Given the description of an element on the screen output the (x, y) to click on. 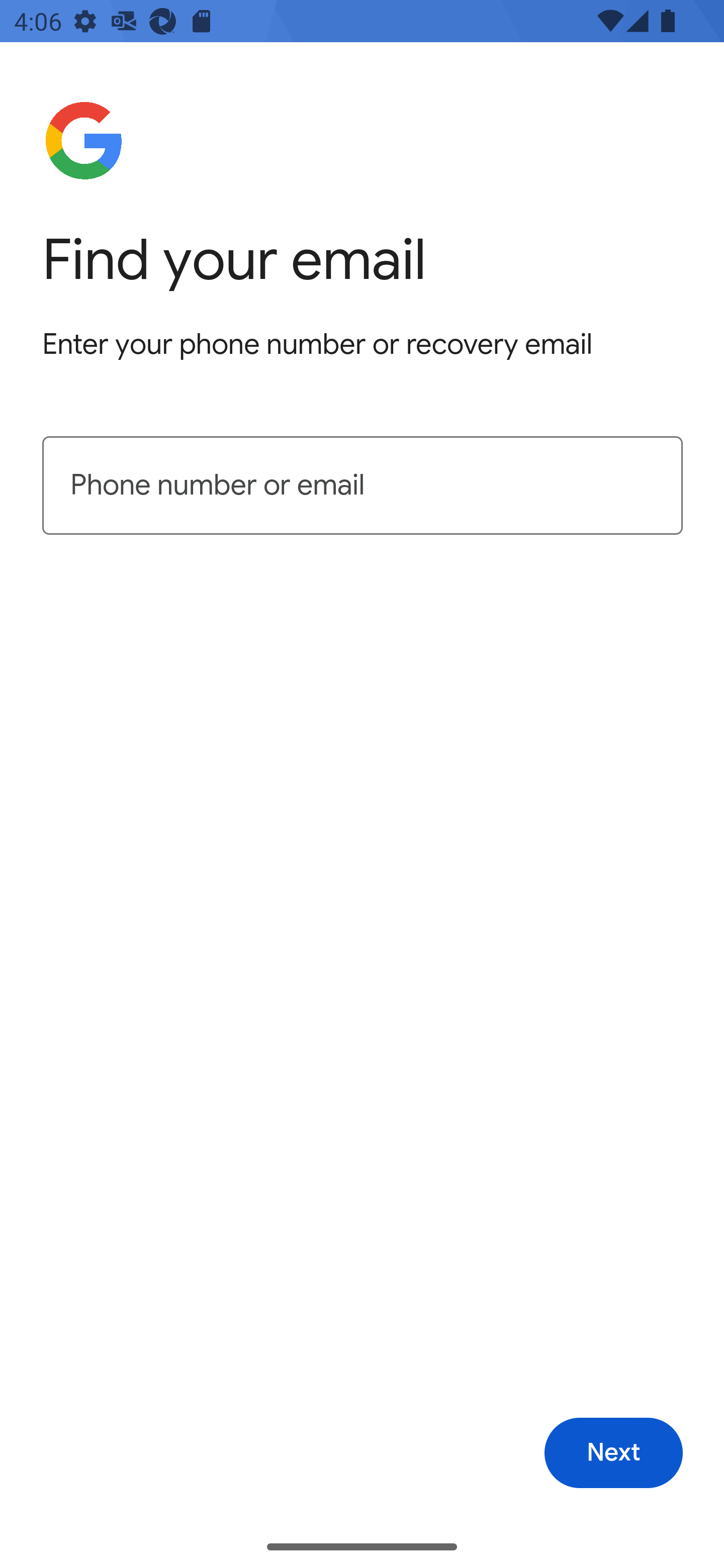
Next (613, 1453)
